Given the description of an element on the screen output the (x, y) to click on. 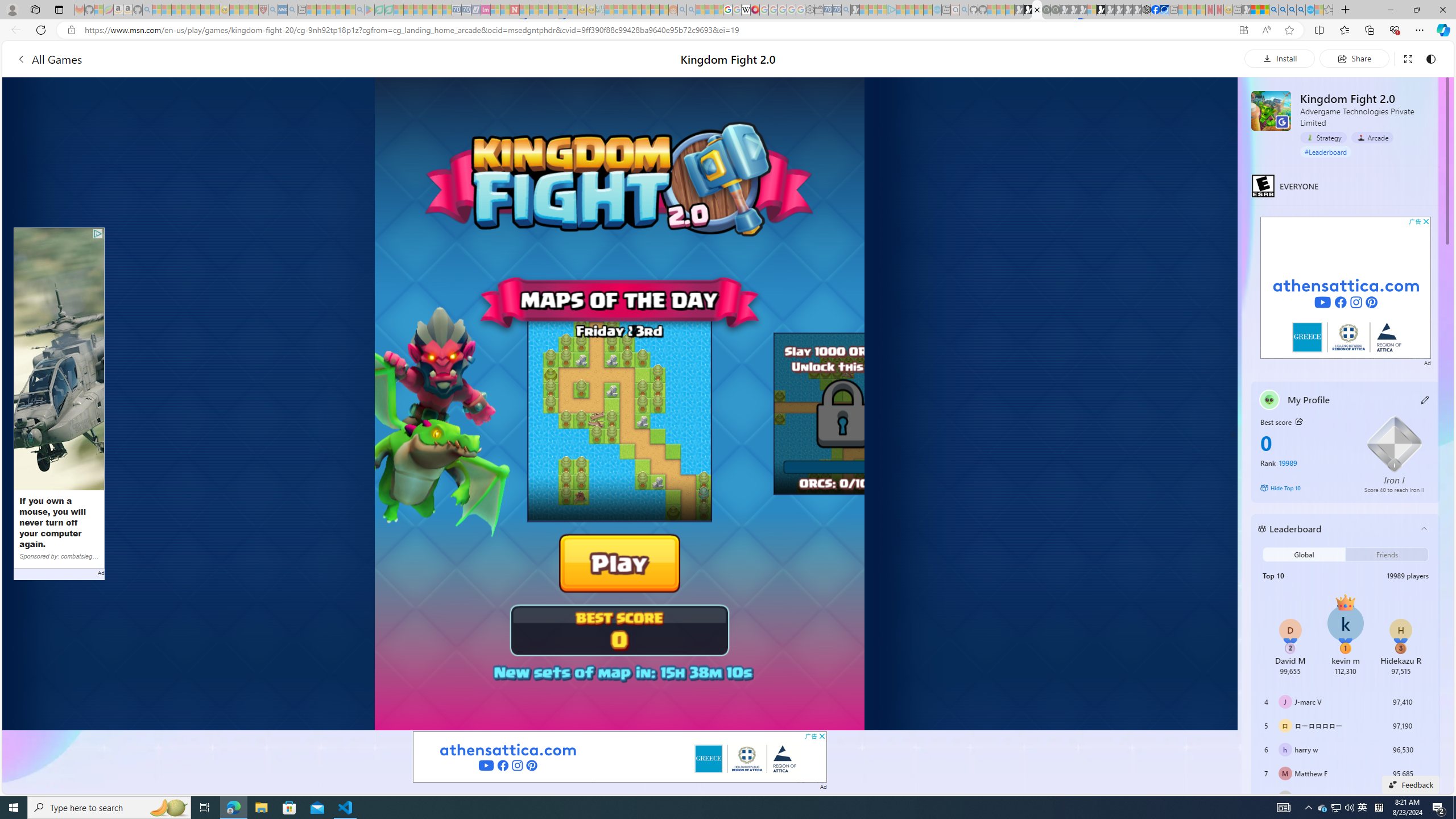
Terms of Use Agreement - Sleeping (378, 9)
Global (1304, 554)
Recipes - MSN - Sleeping (234, 9)
New tab - Sleeping (1236, 9)
Class: button (1298, 421)
Future Focus Report 2024 - Sleeping (1054, 9)
Nordace | Facebook (1154, 9)
Settings - Sleeping (809, 9)
google - Search - Sleeping (359, 9)
